Given the description of an element on the screen output the (x, y) to click on. 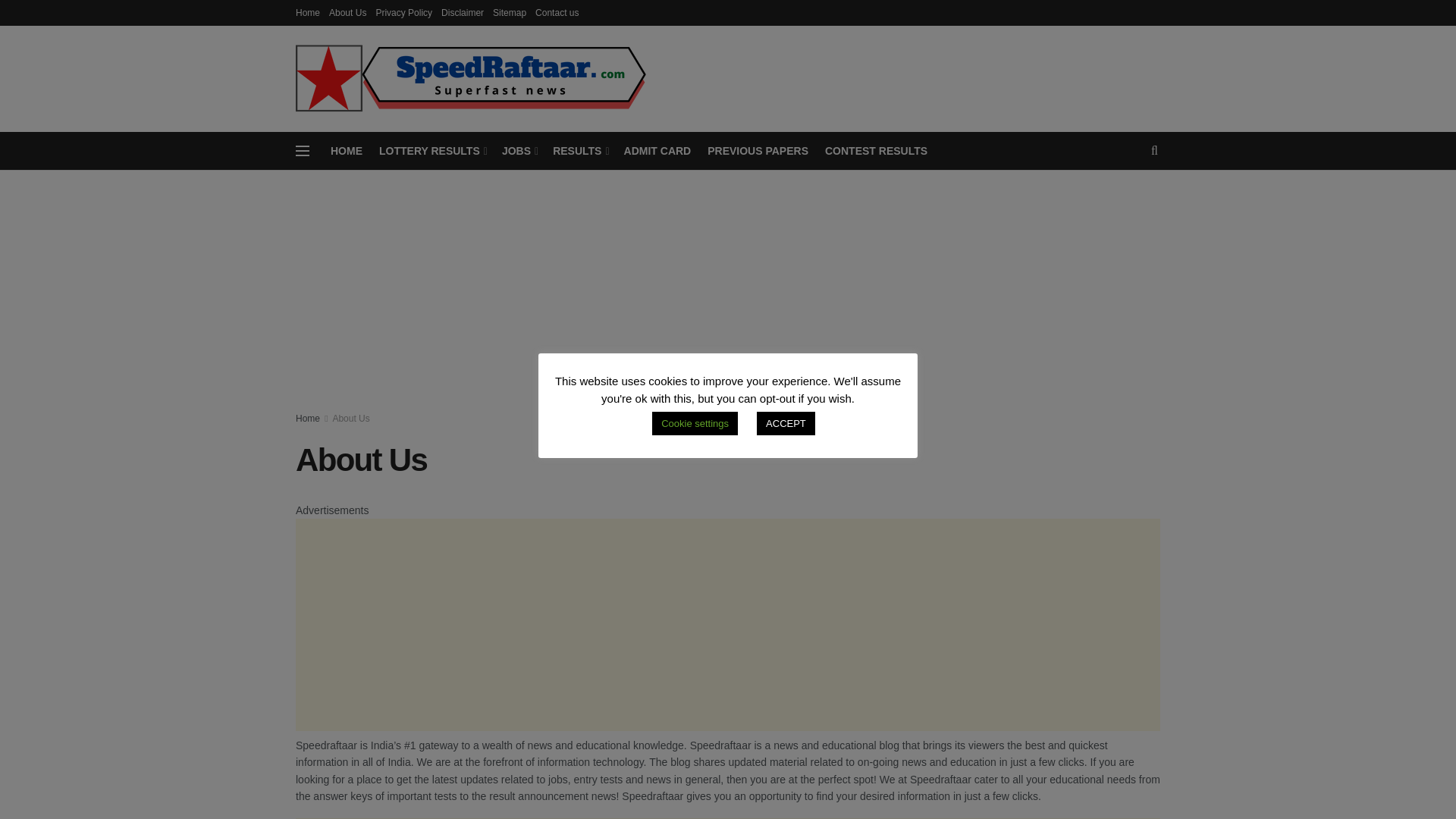
Privacy Policy (403, 12)
Sitemap (509, 12)
RESULTS (580, 150)
LOTTERY RESULTS (431, 150)
ADMIT CARD (657, 150)
About Us (347, 12)
JOBS (518, 150)
Home (307, 12)
